Given the description of an element on the screen output the (x, y) to click on. 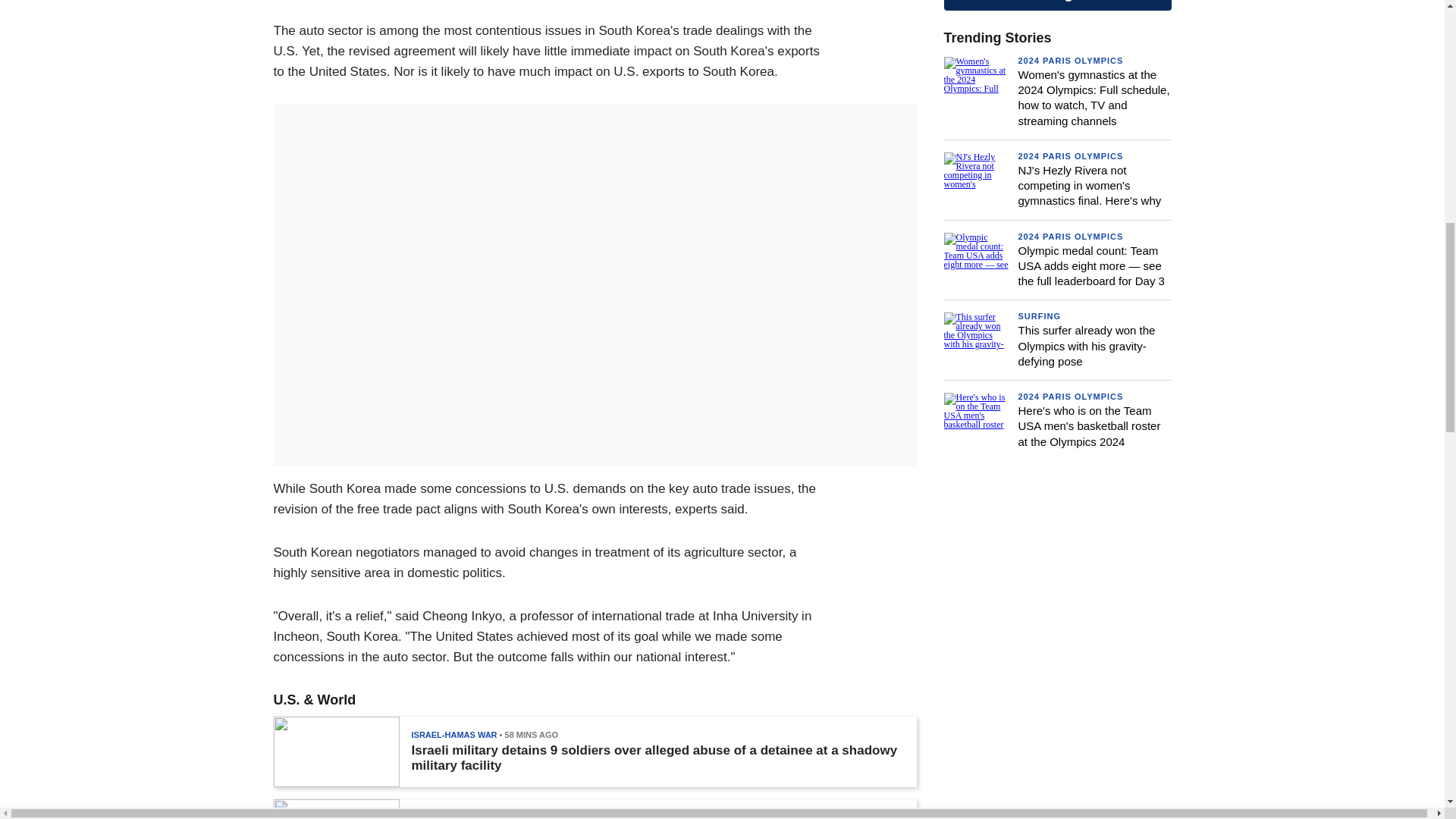
VENEZUELA (435, 816)
ISRAEL-HAMAS WAR (453, 734)
